Given the description of an element on the screen output the (x, y) to click on. 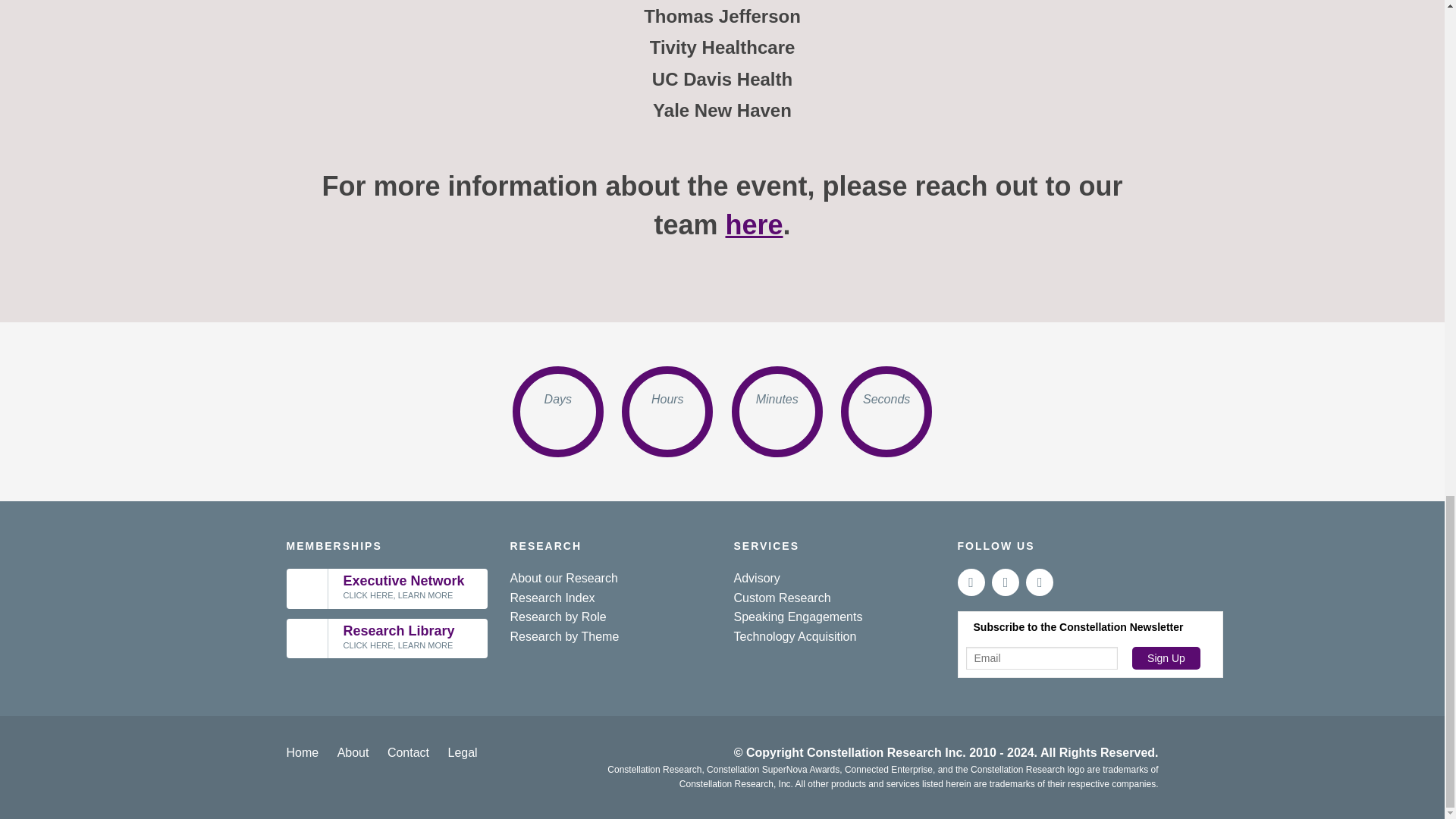
Sign Up (1165, 658)
